Given the description of an element on the screen output the (x, y) to click on. 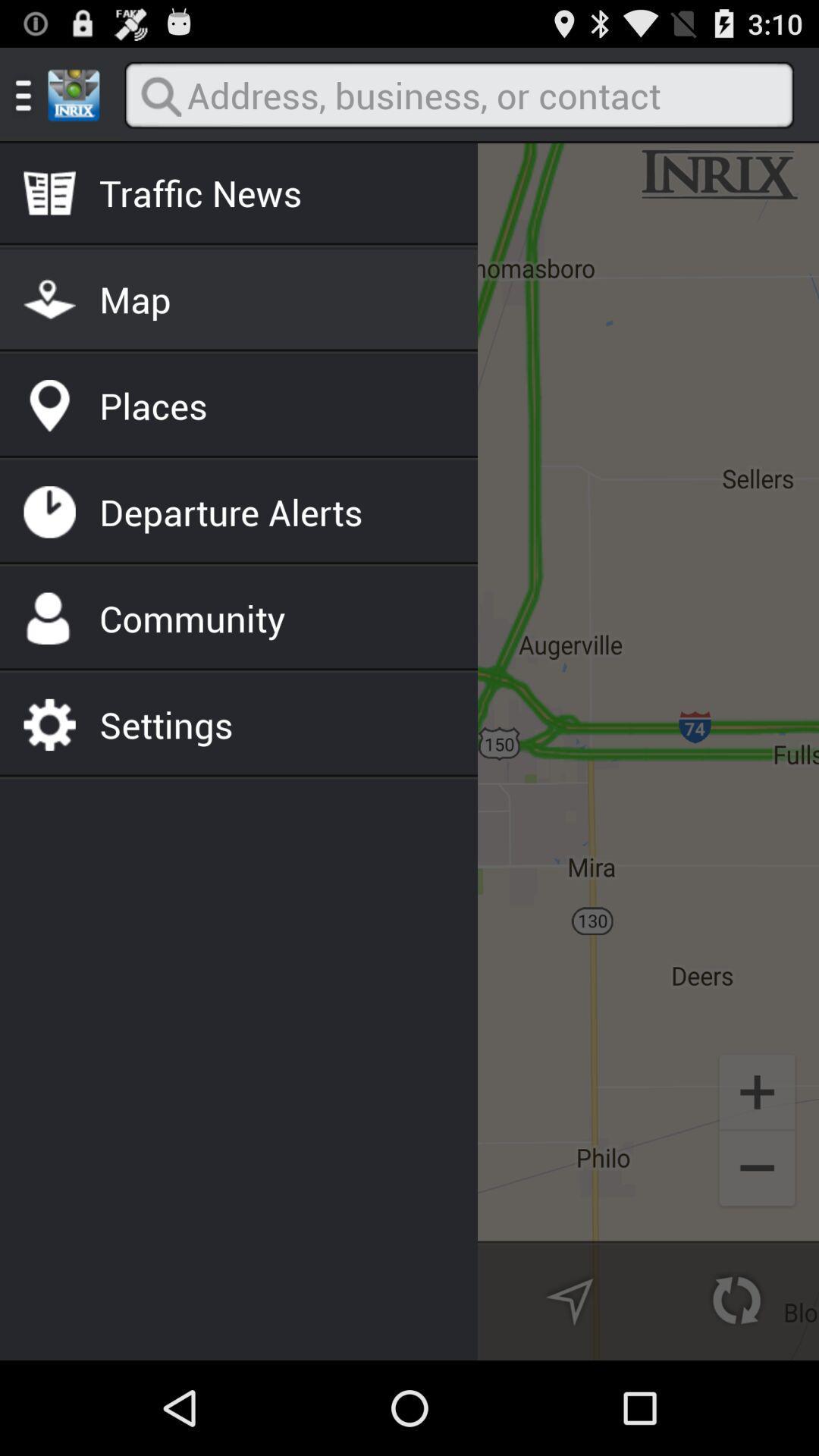
click the places item (153, 405)
